Given the description of an element on the screen output the (x, y) to click on. 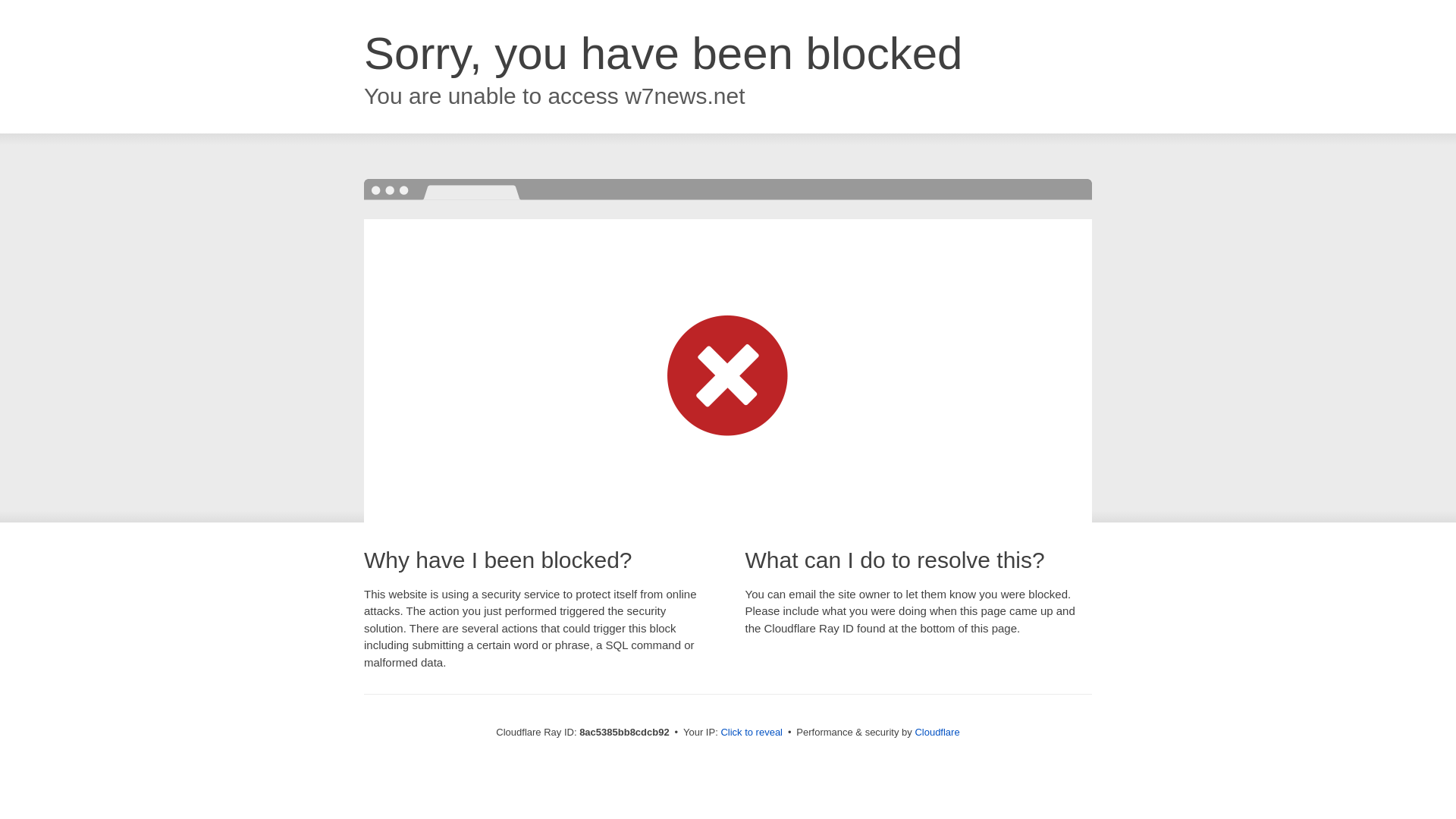
Click to reveal (751, 732)
Cloudflare (936, 731)
